Given the description of an element on the screen output the (x, y) to click on. 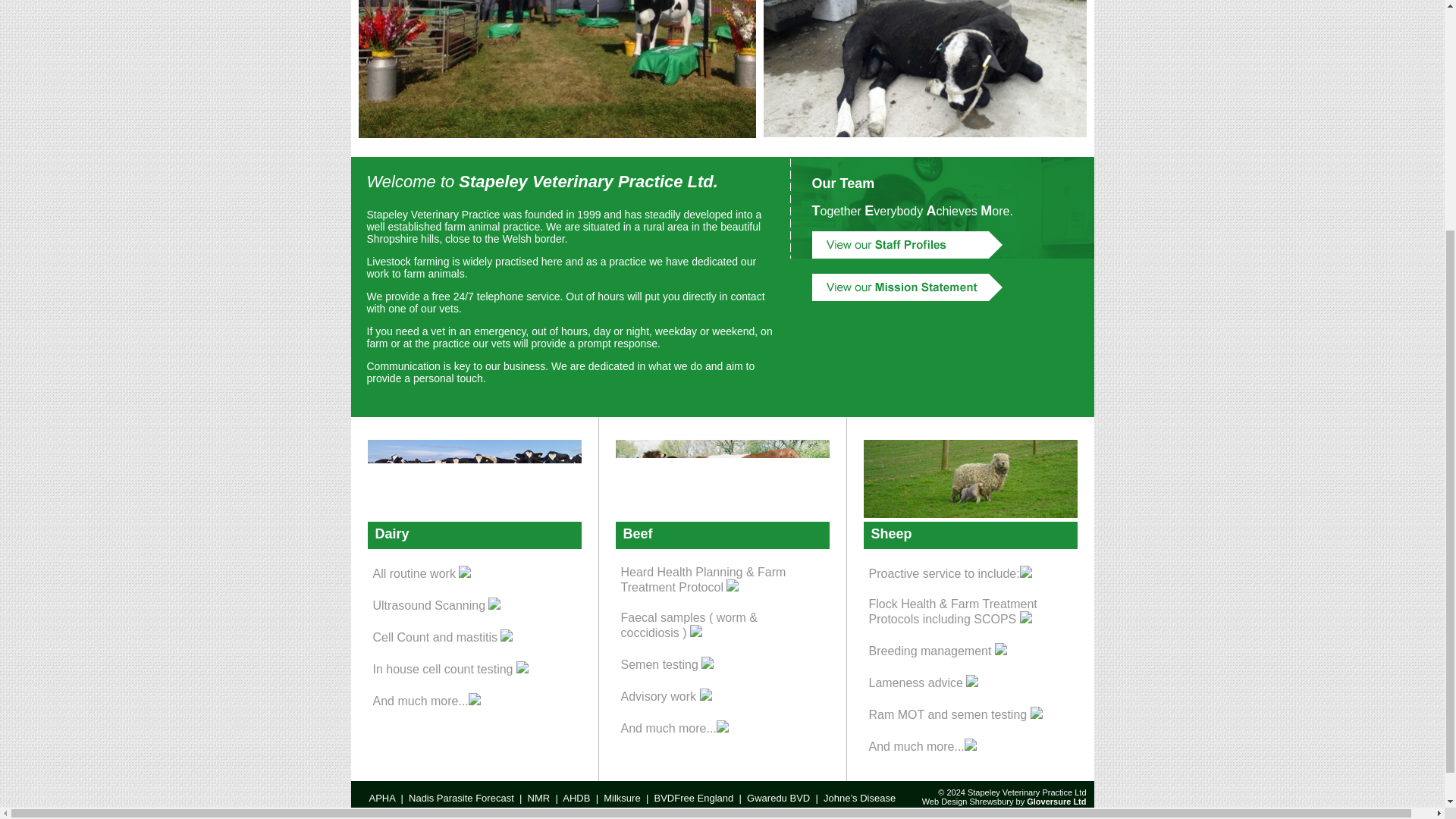
AHDB (575, 797)
Ultrasound Scanning (436, 604)
Breeding management (938, 650)
NMR (538, 797)
In house cell count testing (450, 668)
Lameness advice (923, 682)
Ram MOT and semen testing (955, 714)
Nadis Parasite Forecast (461, 797)
And much more... (922, 746)
Advisory work (665, 696)
